Given the description of an element on the screen output the (x, y) to click on. 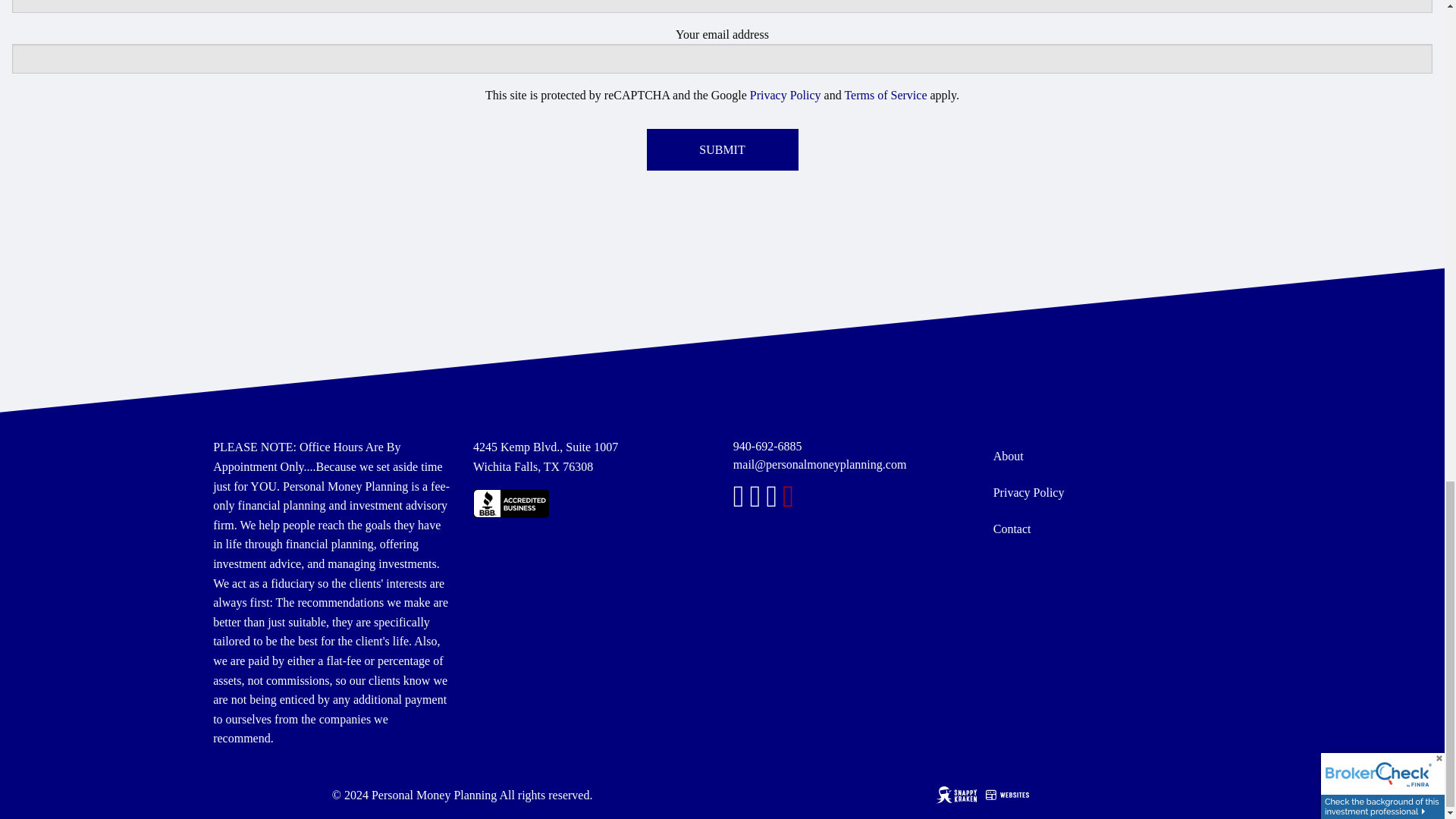
Submit (721, 149)
Terms of Service (885, 94)
Privacy Policy (785, 94)
Submit (721, 149)
